Given the description of an element on the screen output the (x, y) to click on. 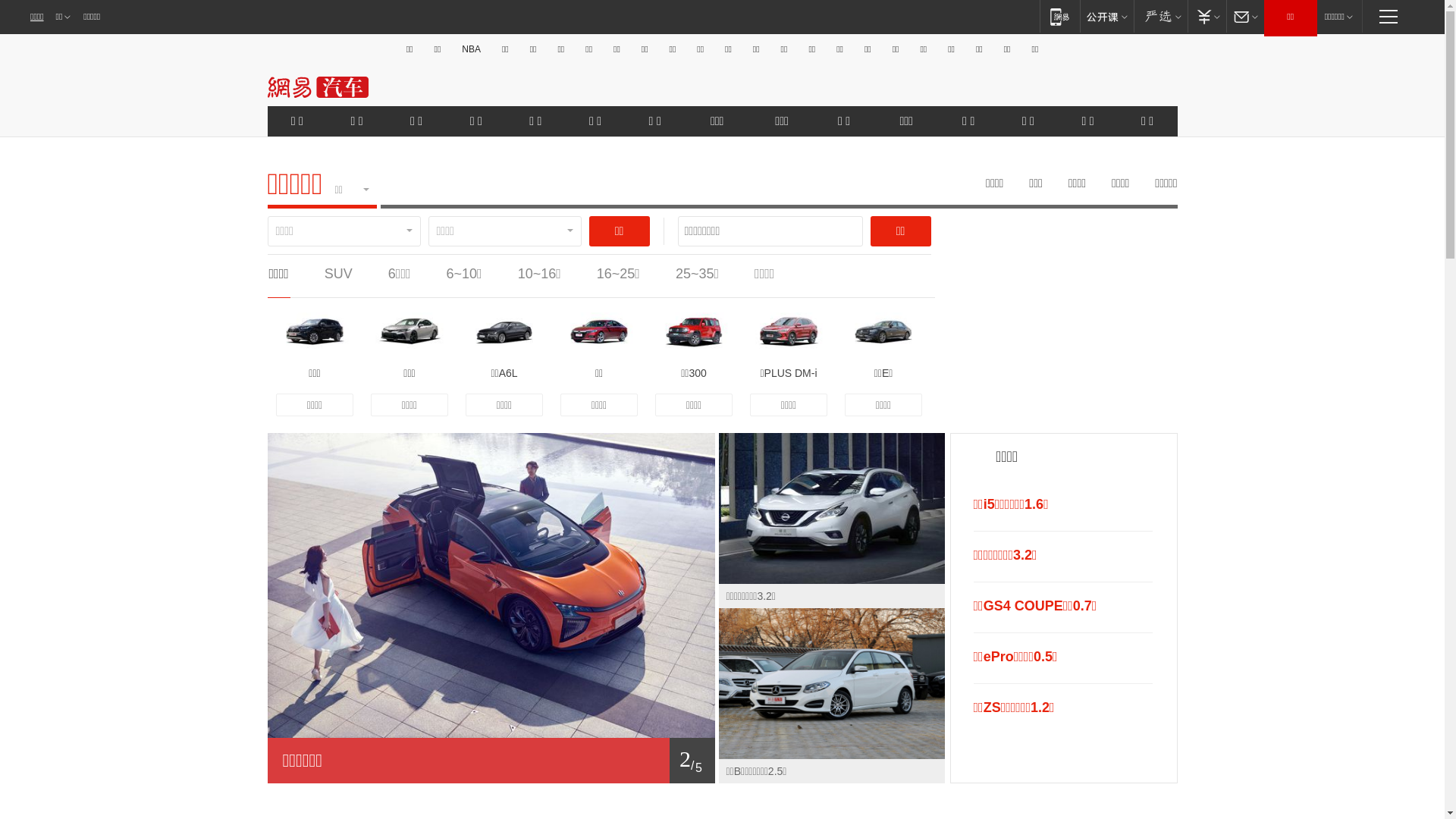
NBA Element type: text (471, 48)
SUV Element type: text (338, 273)
1/ 5 Element type: text (490, 760)
